Given the description of an element on the screen output the (x, y) to click on. 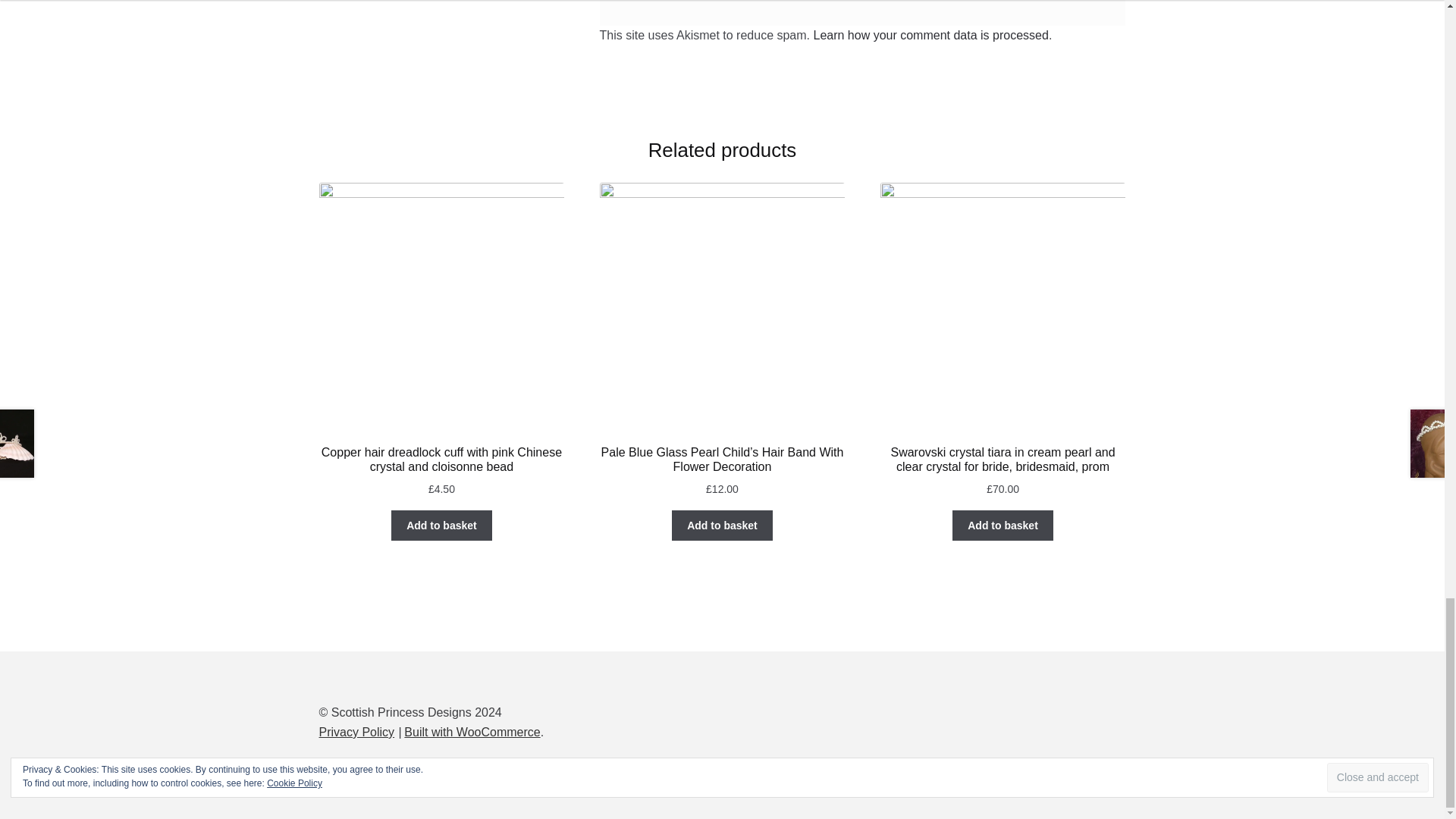
WooCommerce - The Best eCommerce Platform for WordPress (472, 731)
